Given the description of an element on the screen output the (x, y) to click on. 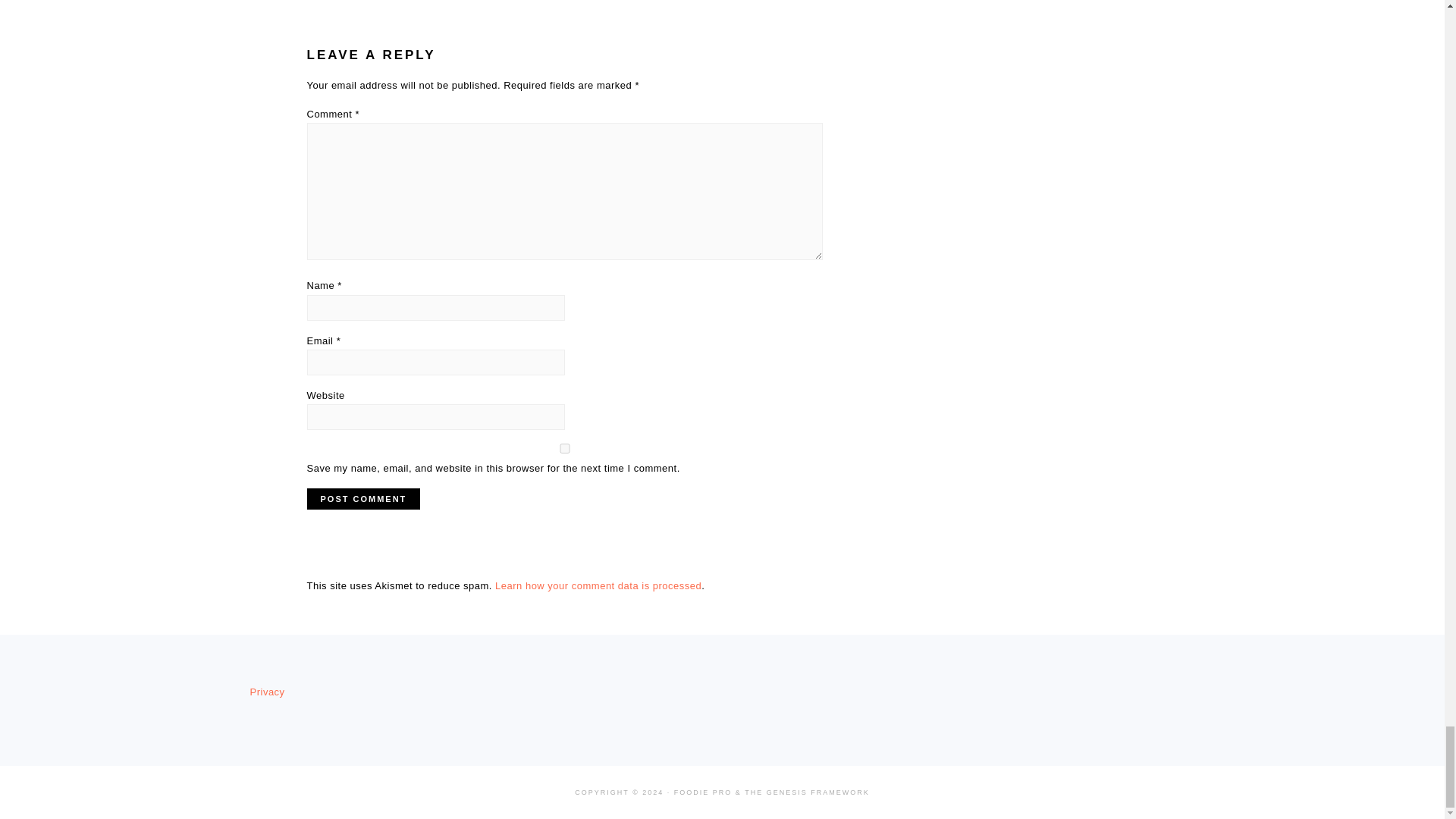
Post Comment (362, 498)
yes (563, 448)
